Given the description of an element on the screen output the (x, y) to click on. 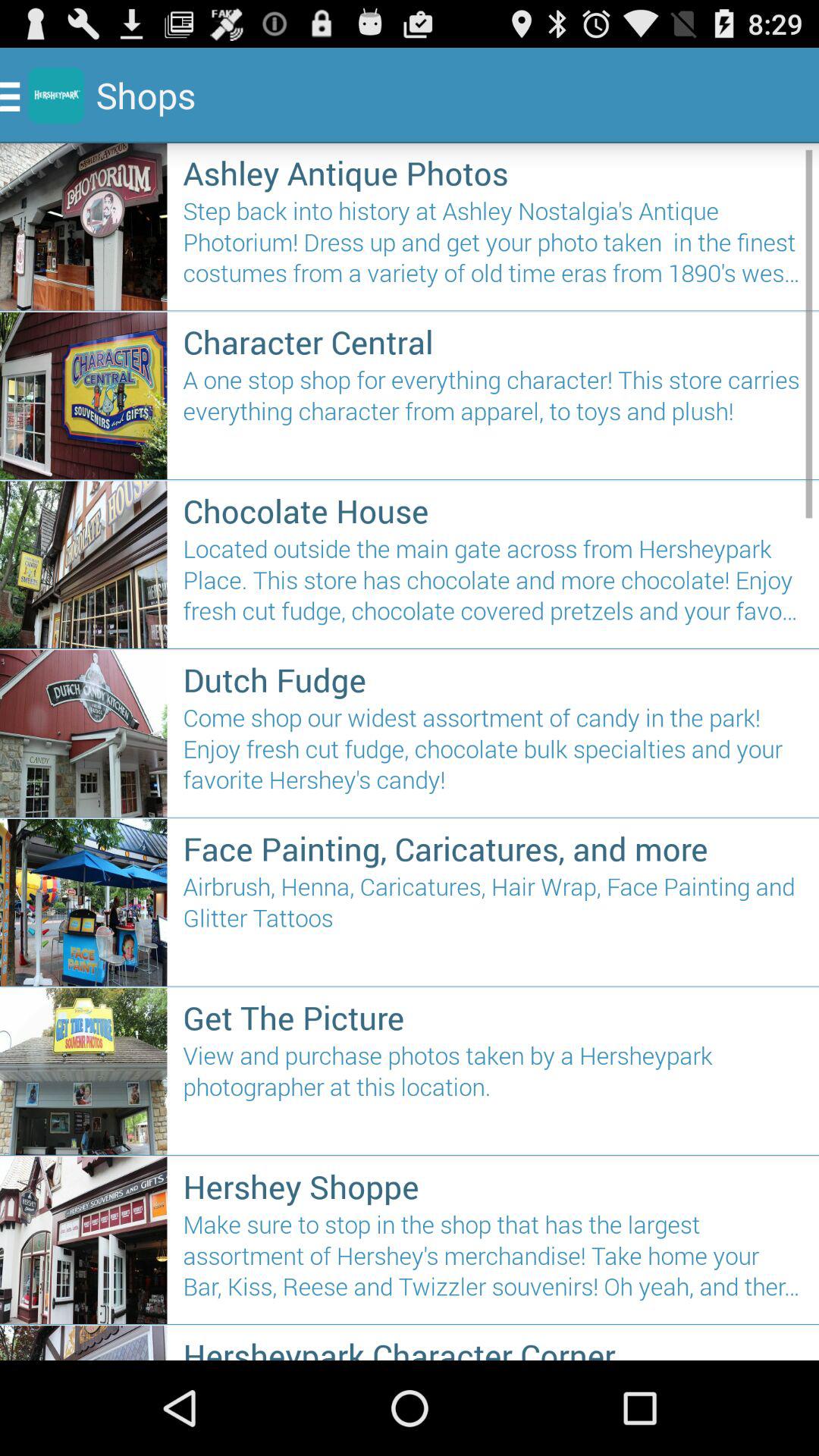
scroll to step back into item (493, 248)
